Given the description of an element on the screen output the (x, y) to click on. 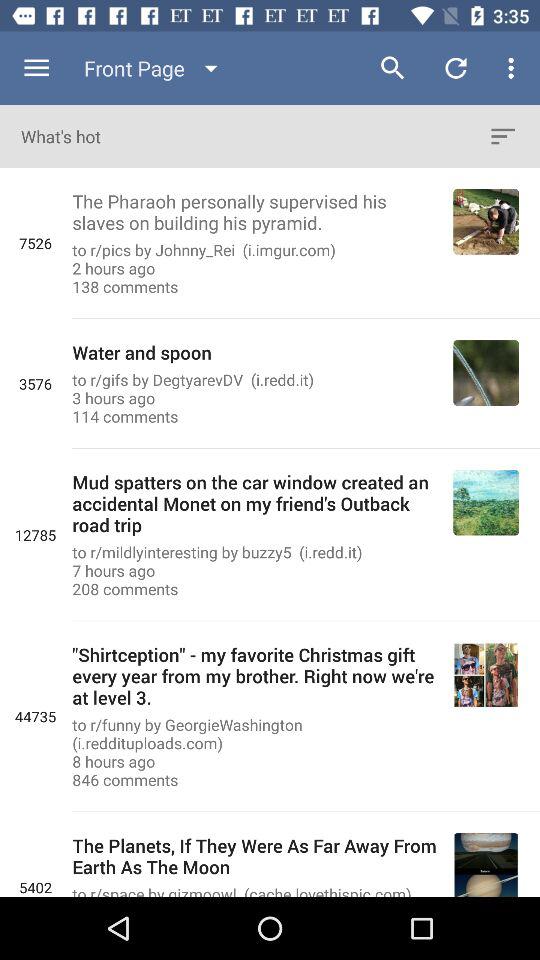
flip to the front page item (155, 67)
